Given the description of an element on the screen output the (x, y) to click on. 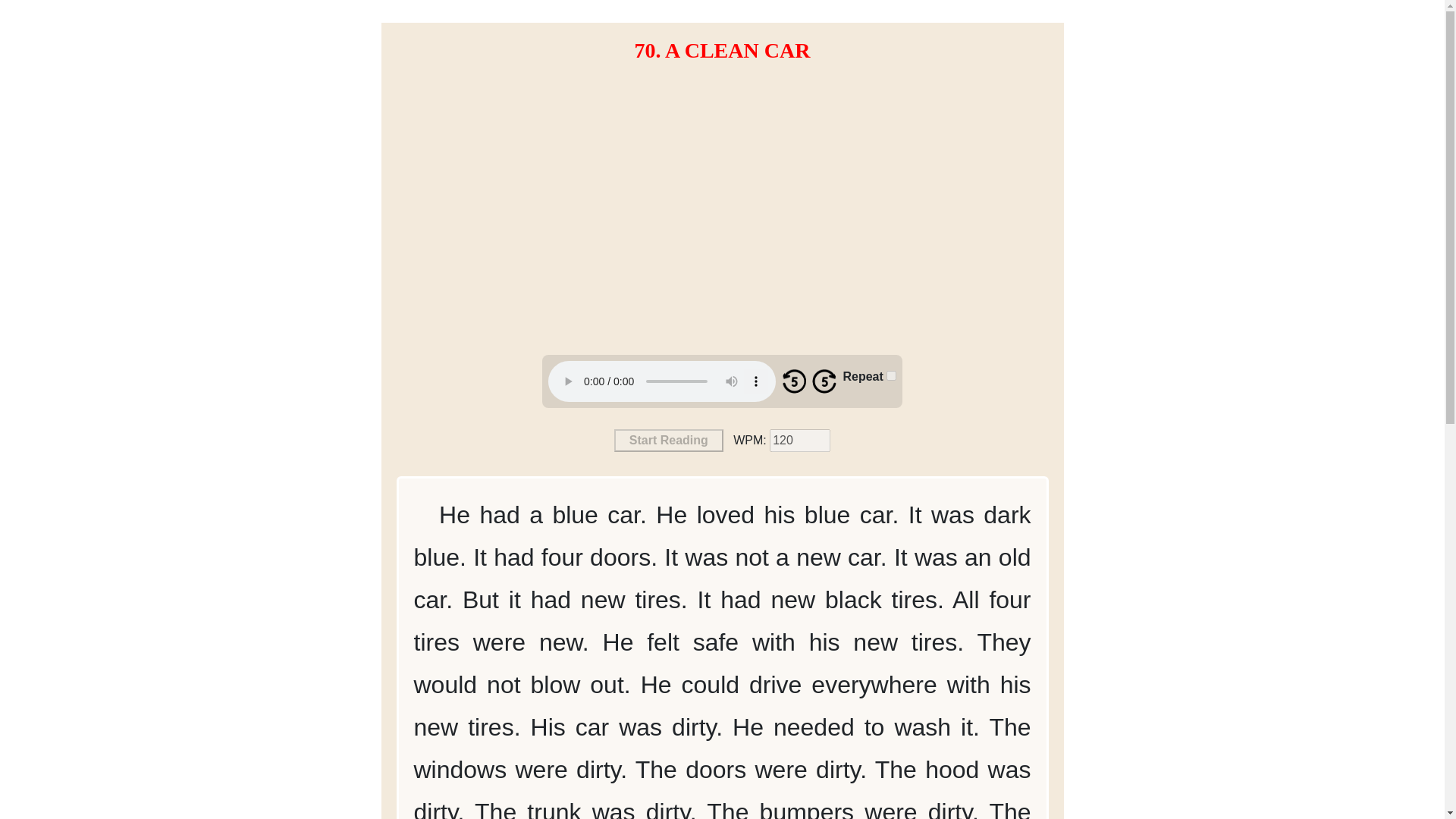
on (891, 375)
120 (799, 440)
Start Reading (668, 440)
